Given the description of an element on the screen output the (x, y) to click on. 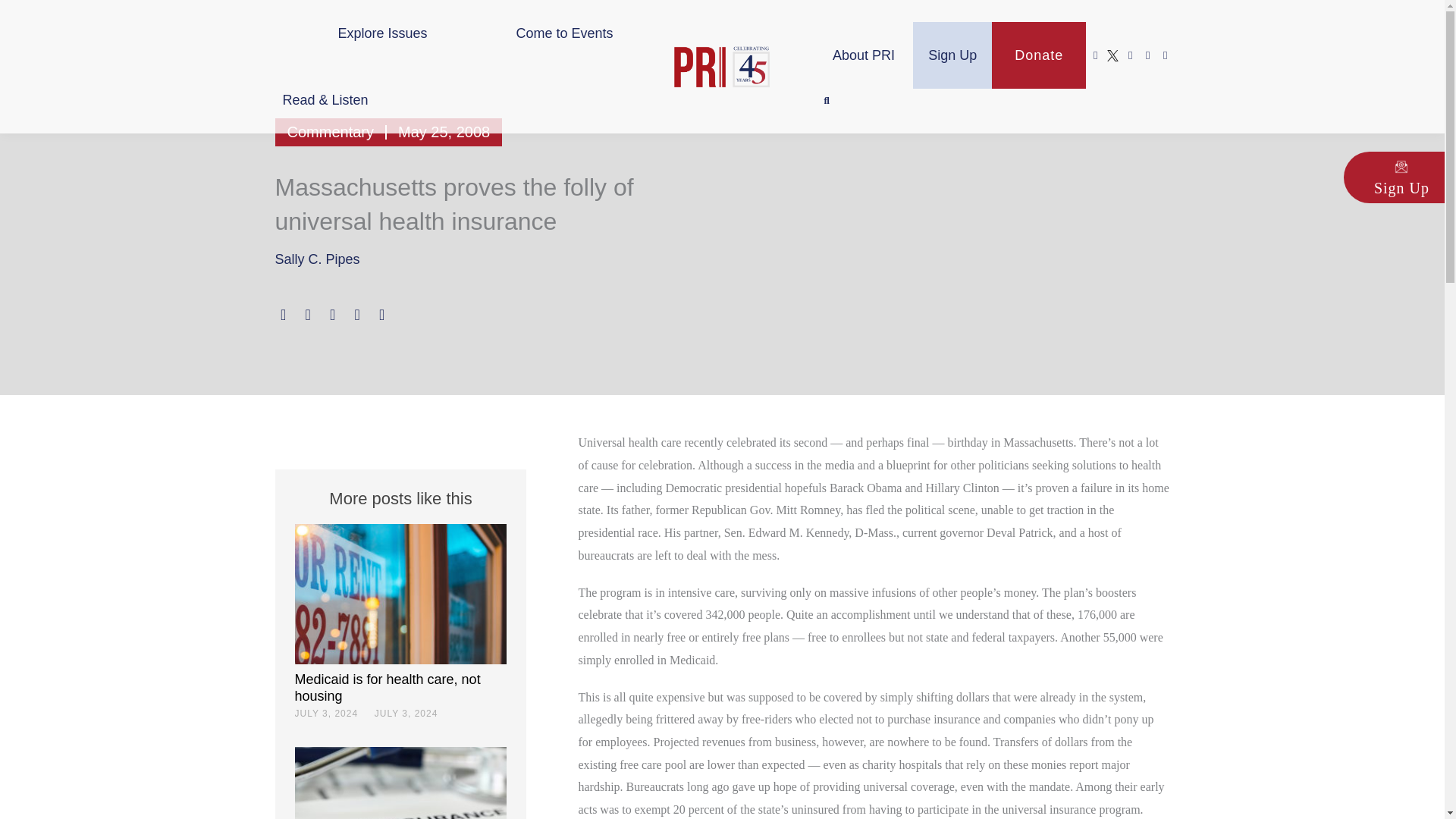
Come to Events (563, 33)
Explore Issues (381, 33)
